Given the description of an element on the screen output the (x, y) to click on. 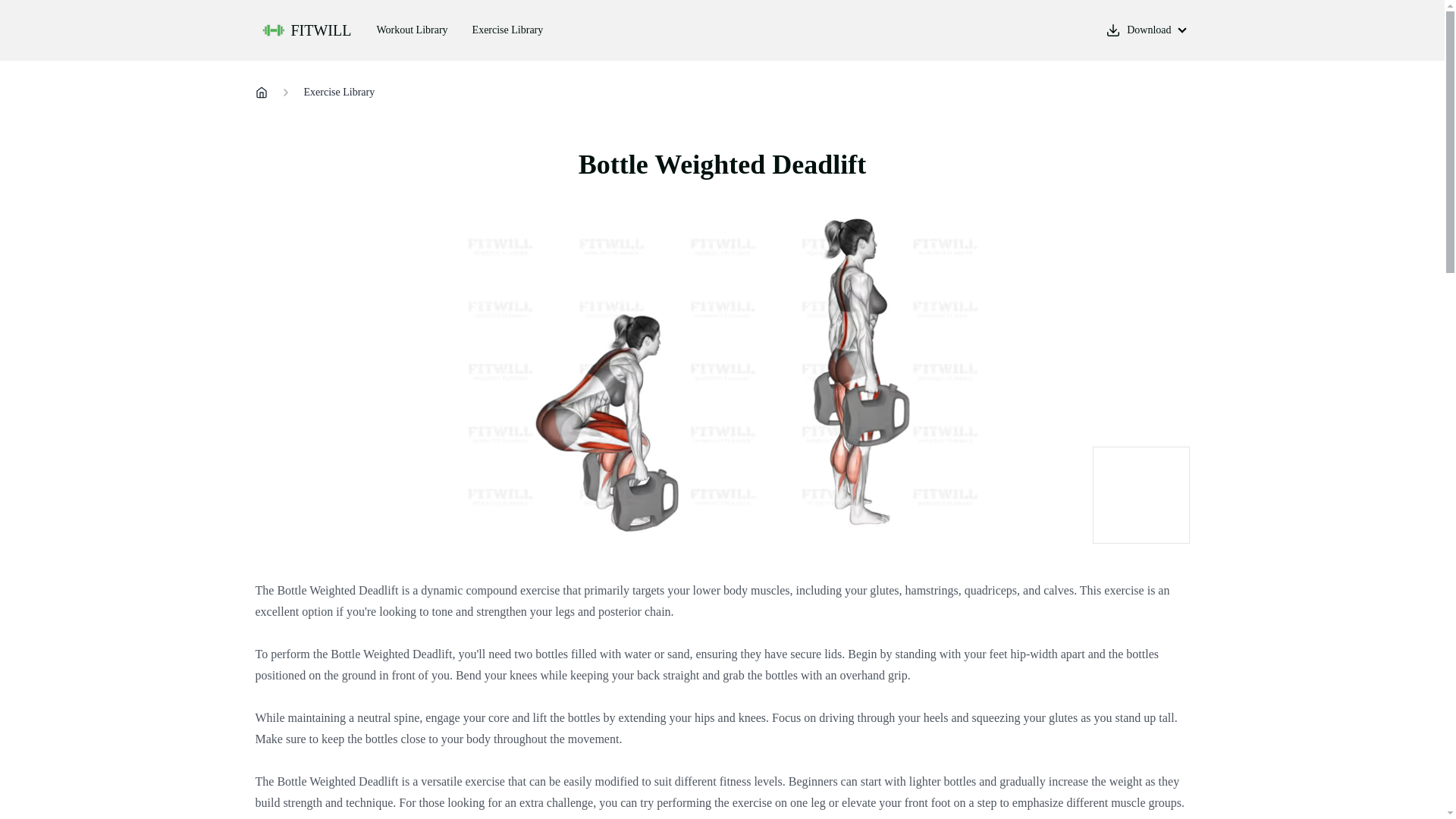
QR Code: View in the Fitwill app (1140, 494)
Exercise Library (508, 30)
Workout Library (412, 30)
FITWILL (306, 30)
Home (260, 92)
Exercise Library (338, 92)
